Given the description of an element on the screen output the (x, y) to click on. 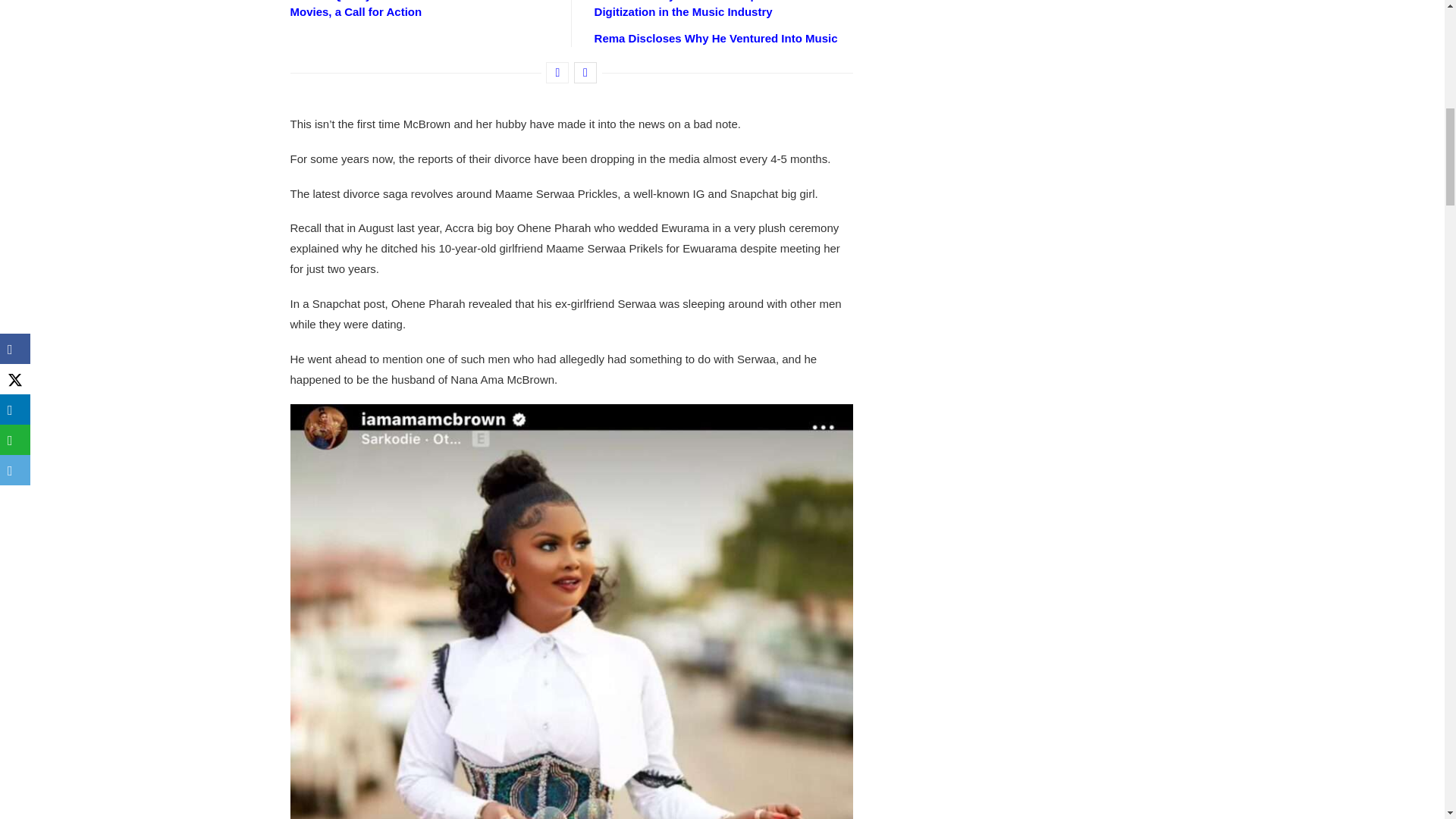
Previous (557, 72)
Next (584, 72)
